Given the description of an element on the screen output the (x, y) to click on. 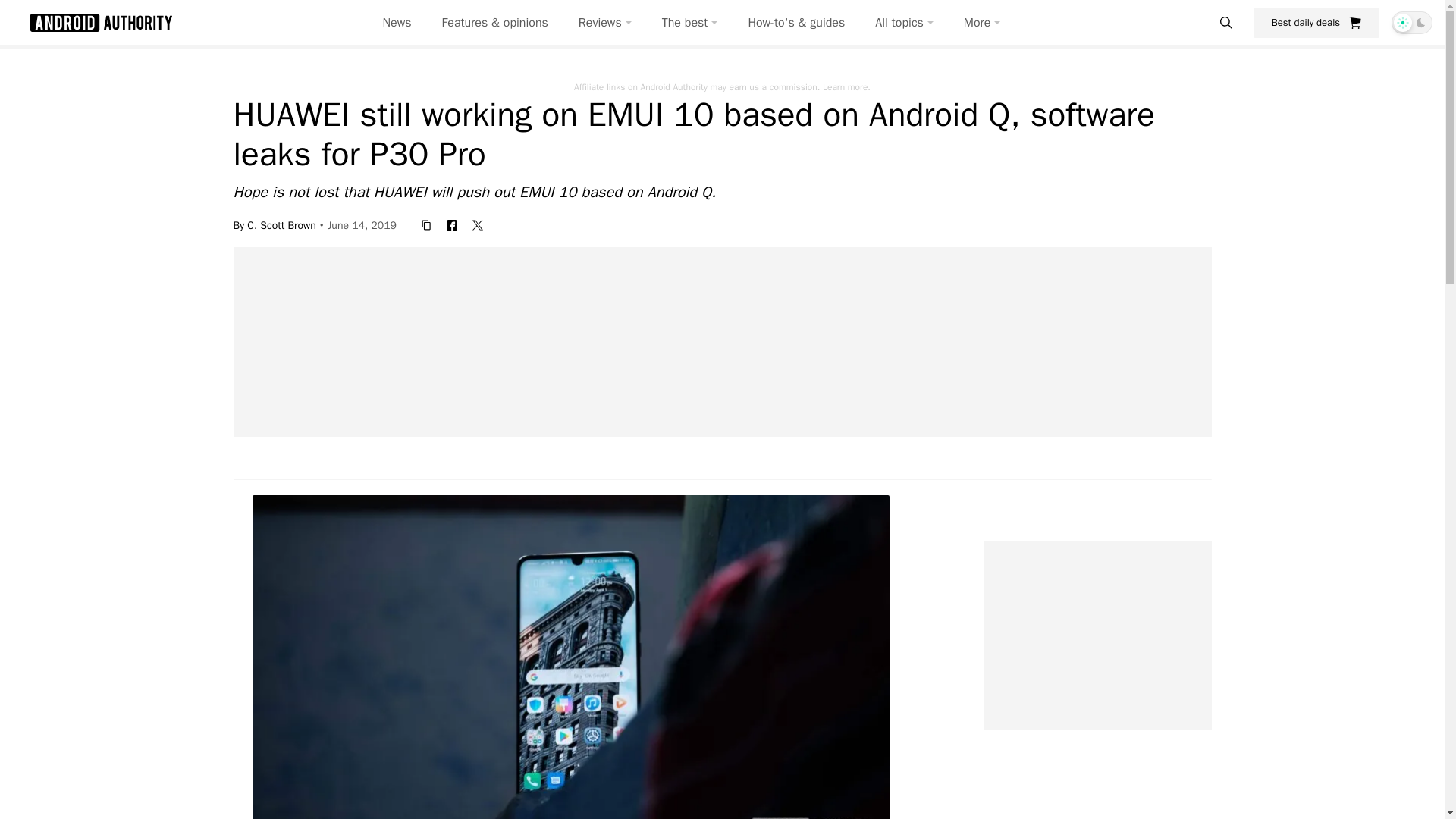
facebook (451, 225)
Learn more. (846, 86)
Reviews (604, 22)
C. Scott Brown (281, 224)
twitter (477, 225)
Best daily deals (1315, 22)
The best (689, 22)
All topics (904, 22)
